Given the description of an element on the screen output the (x, y) to click on. 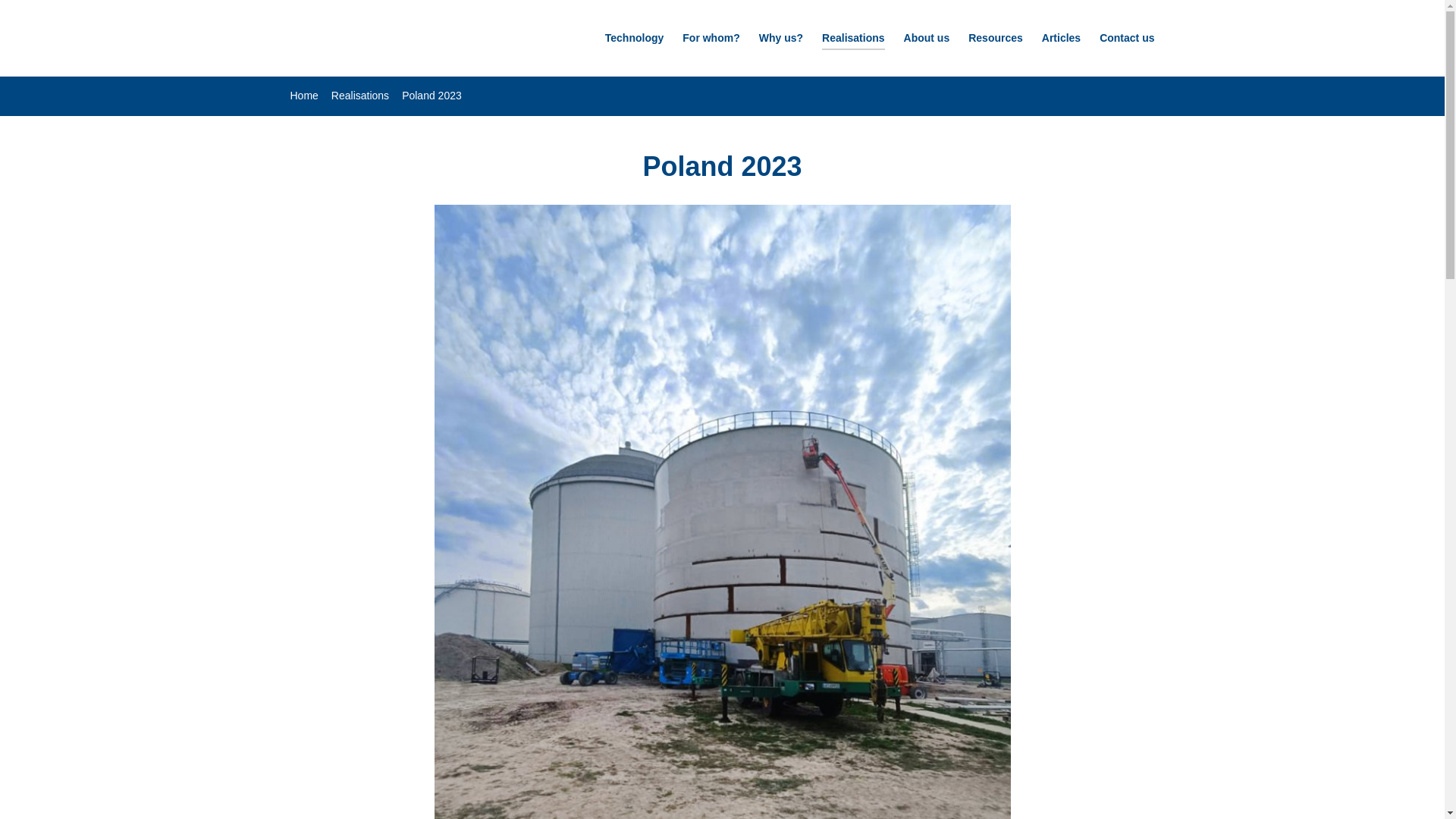
For whom? (710, 40)
Why us? (780, 40)
Contact us (1126, 40)
Articles (1061, 40)
About us (927, 40)
Realisations (852, 40)
Nordweld (382, 38)
Home (303, 95)
Nordweld (382, 38)
Realisations (359, 95)
Technology (634, 40)
Resources (995, 40)
